Given the description of an element on the screen output the (x, y) to click on. 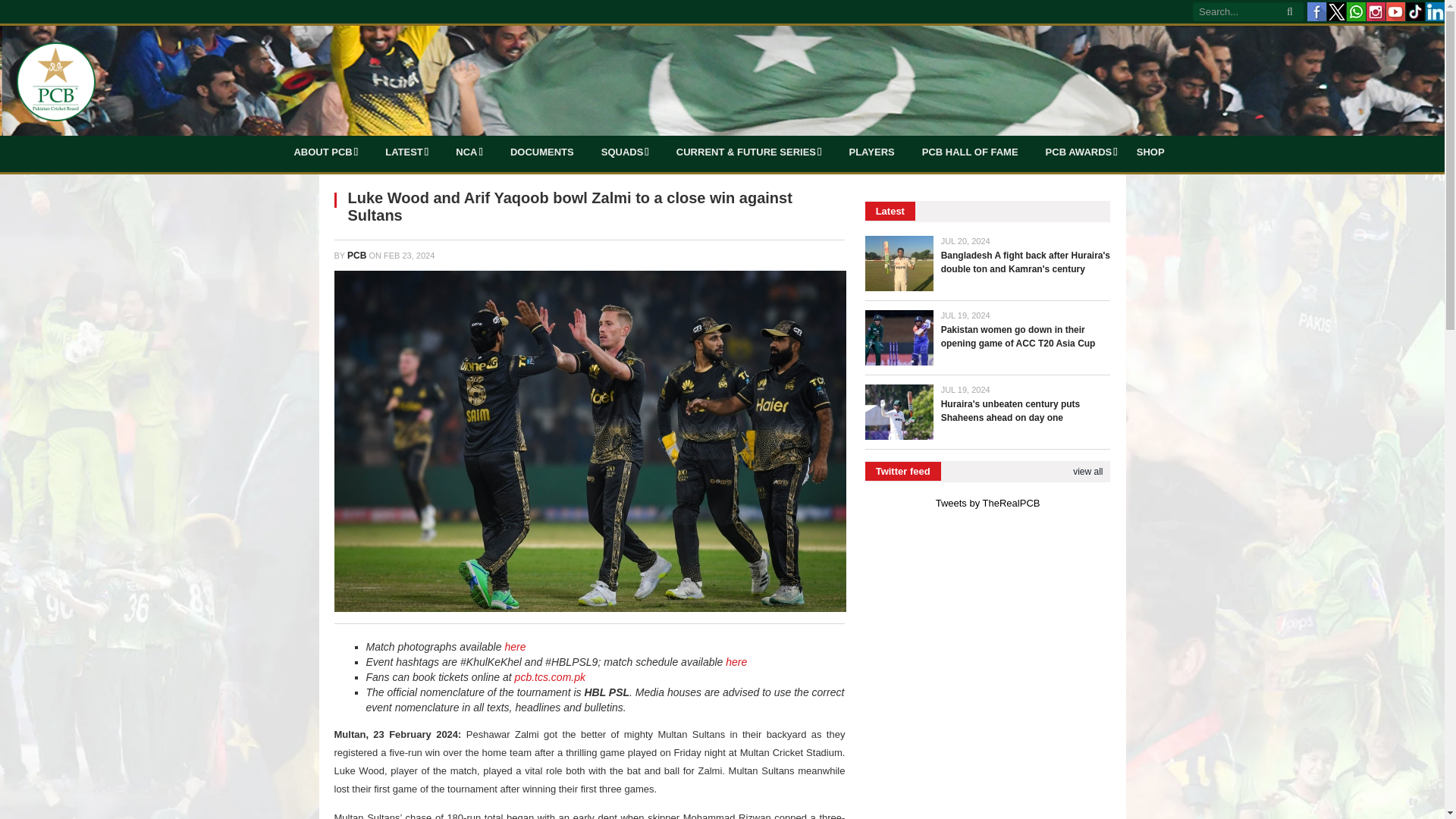
Huraira's unbeaten century puts Shaheens ahead on day one (898, 411)
Pakistan Cricket Board (55, 80)
